Given the description of an element on the screen output the (x, y) to click on. 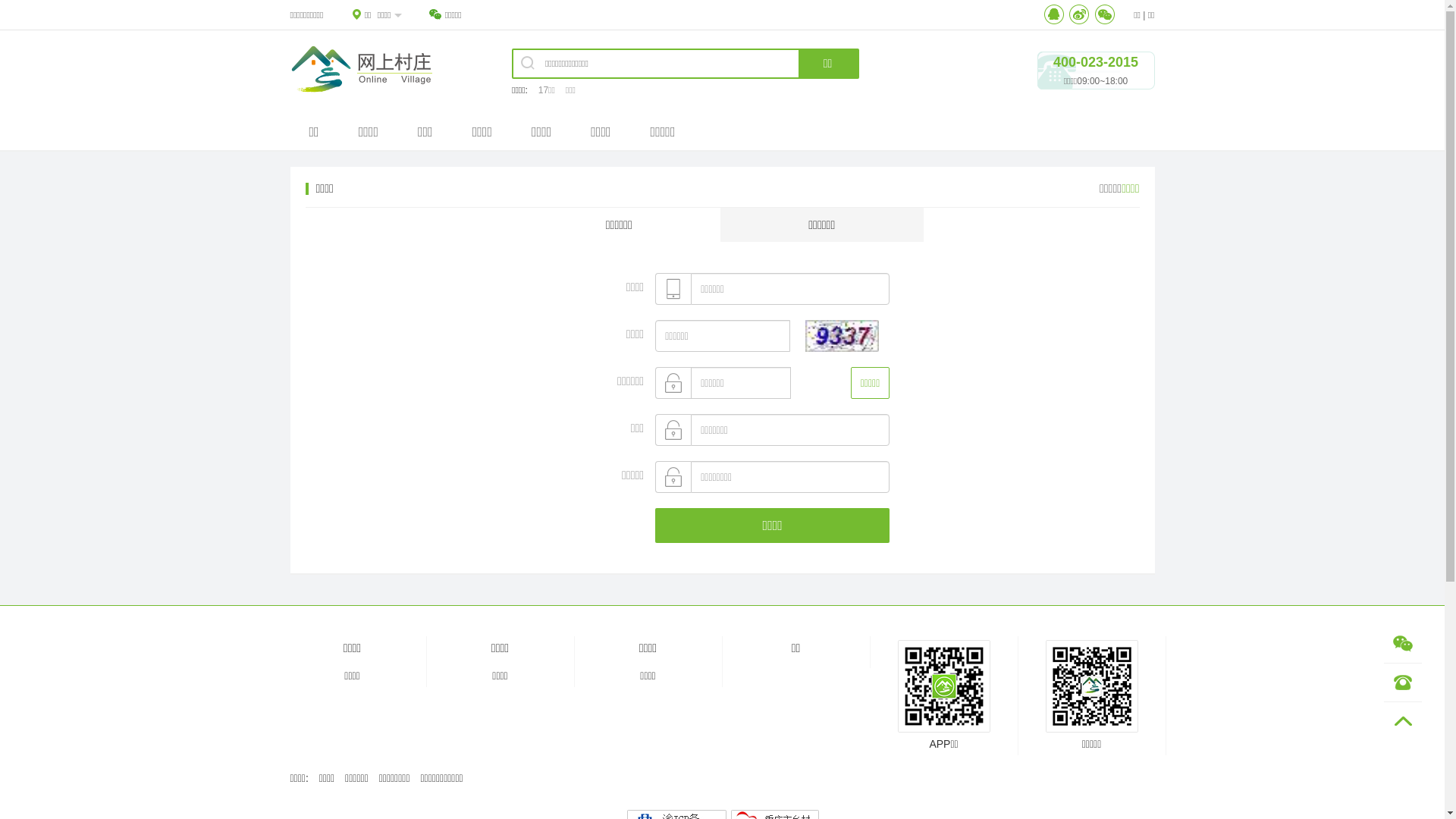
0 Element type: text (1402, 721)
